Given the description of an element on the screen output the (x, y) to click on. 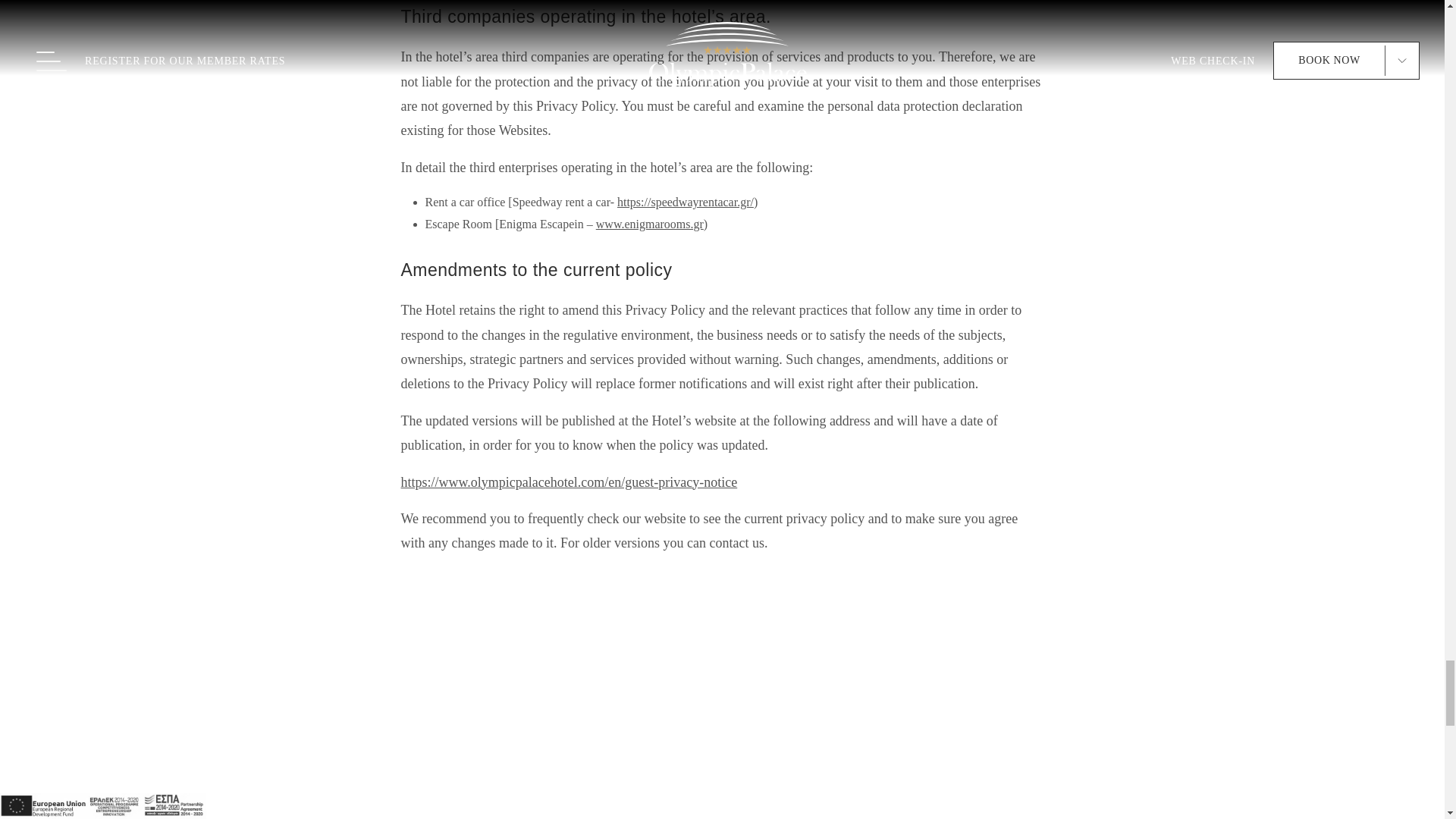
www.enigmarooms.gr (649, 223)
